Given the description of an element on the screen output the (x, y) to click on. 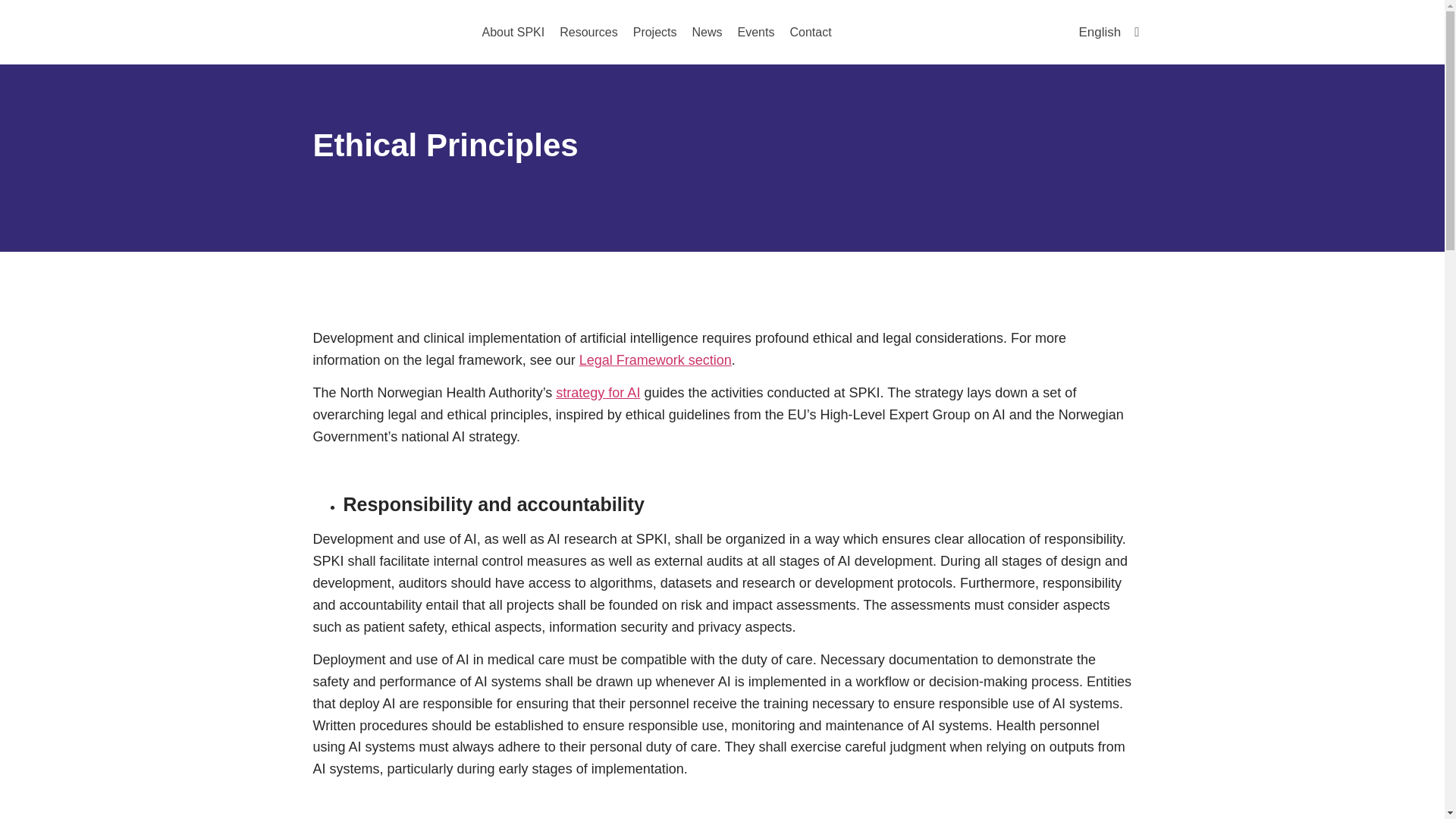
English (1108, 31)
Resources (588, 32)
About SPKI (512, 32)
Legal Framework section (655, 359)
strategy for AI (598, 392)
